Given the description of an element on the screen output the (x, y) to click on. 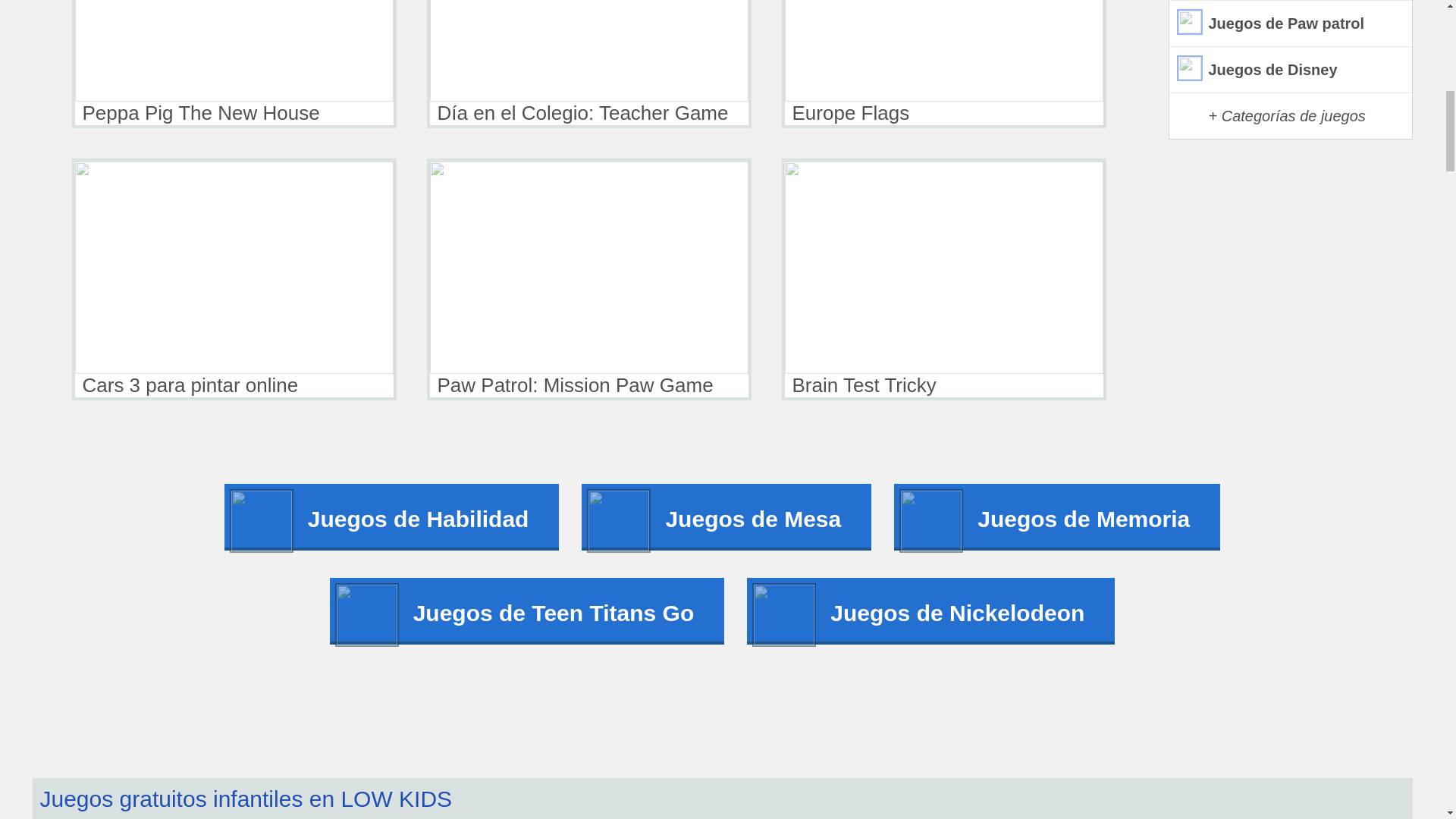
Juegos infantiles de Disney gratis (1290, 69)
Europe Flags (942, 63)
Juegos infantiles de Paw patrol gratis (1290, 23)
Paw Patrol: Mission Paw Game (588, 279)
Juegos de Memoria (1056, 517)
Juegos de Paw patrol (1290, 23)
Peppa Pig The New House (233, 63)
Juegos de Nickelodeon (930, 611)
Juegos de Habilidad (391, 517)
Juegos de Mesa (725, 517)
Juegos de Teen Titans Go (527, 611)
Brain Test Tricky (942, 279)
Cars 3 para pintar online (233, 279)
